Given the description of an element on the screen output the (x, y) to click on. 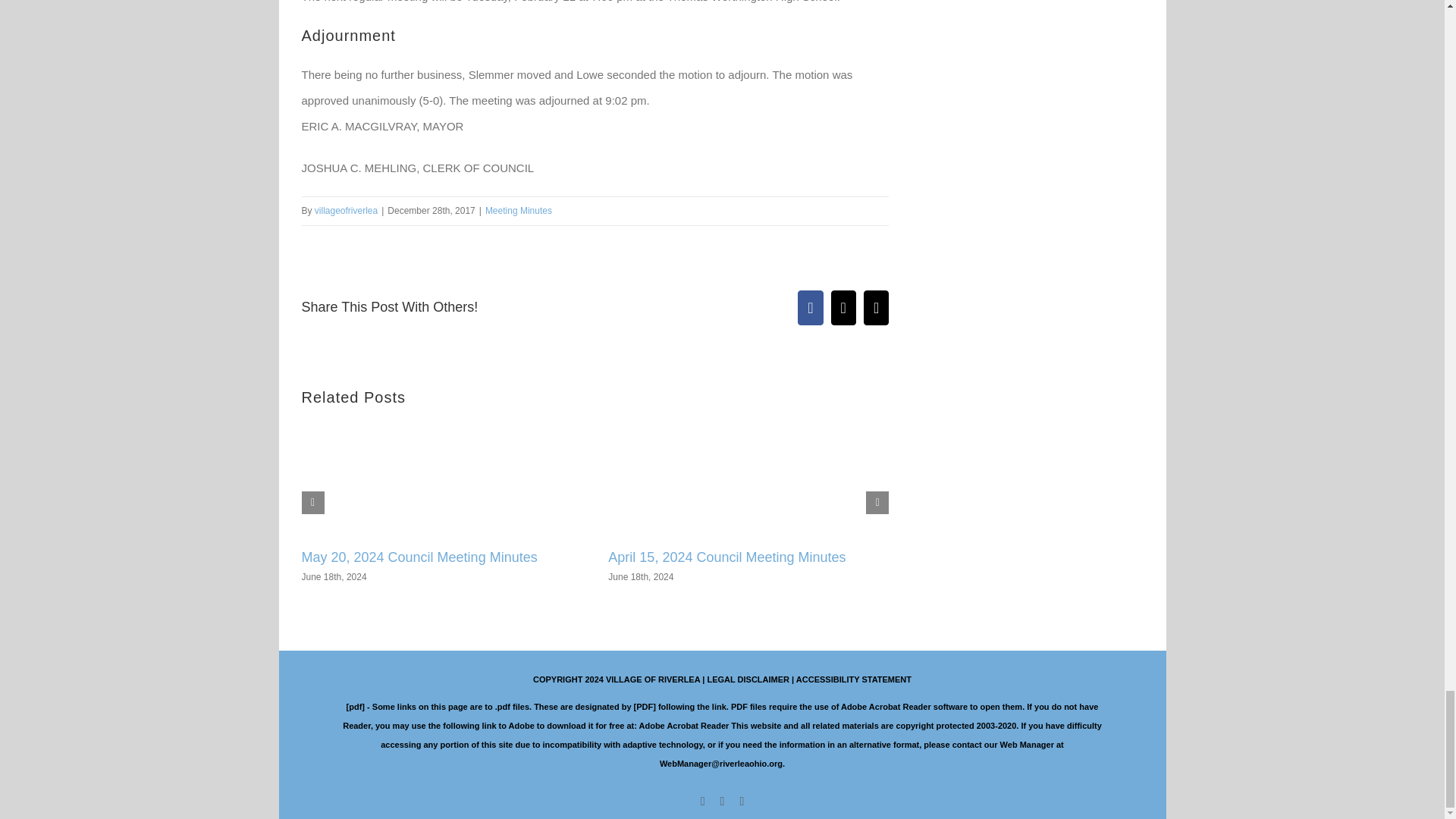
Get Adobe Acrobat Reader (684, 725)
Email Riverlea (721, 763)
villageofriverlea (345, 210)
Village of Riverlea Legal Disclaimer (747, 678)
May 20, 2024 Council Meeting Minutes (419, 557)
April 15, 2024 Council Meeting Minutes (726, 557)
Meeting Minutes (517, 210)
Posts by villageofriverlea (345, 210)
Village of Riverlea Accessibility Statement (853, 678)
